Given the description of an element on the screen output the (x, y) to click on. 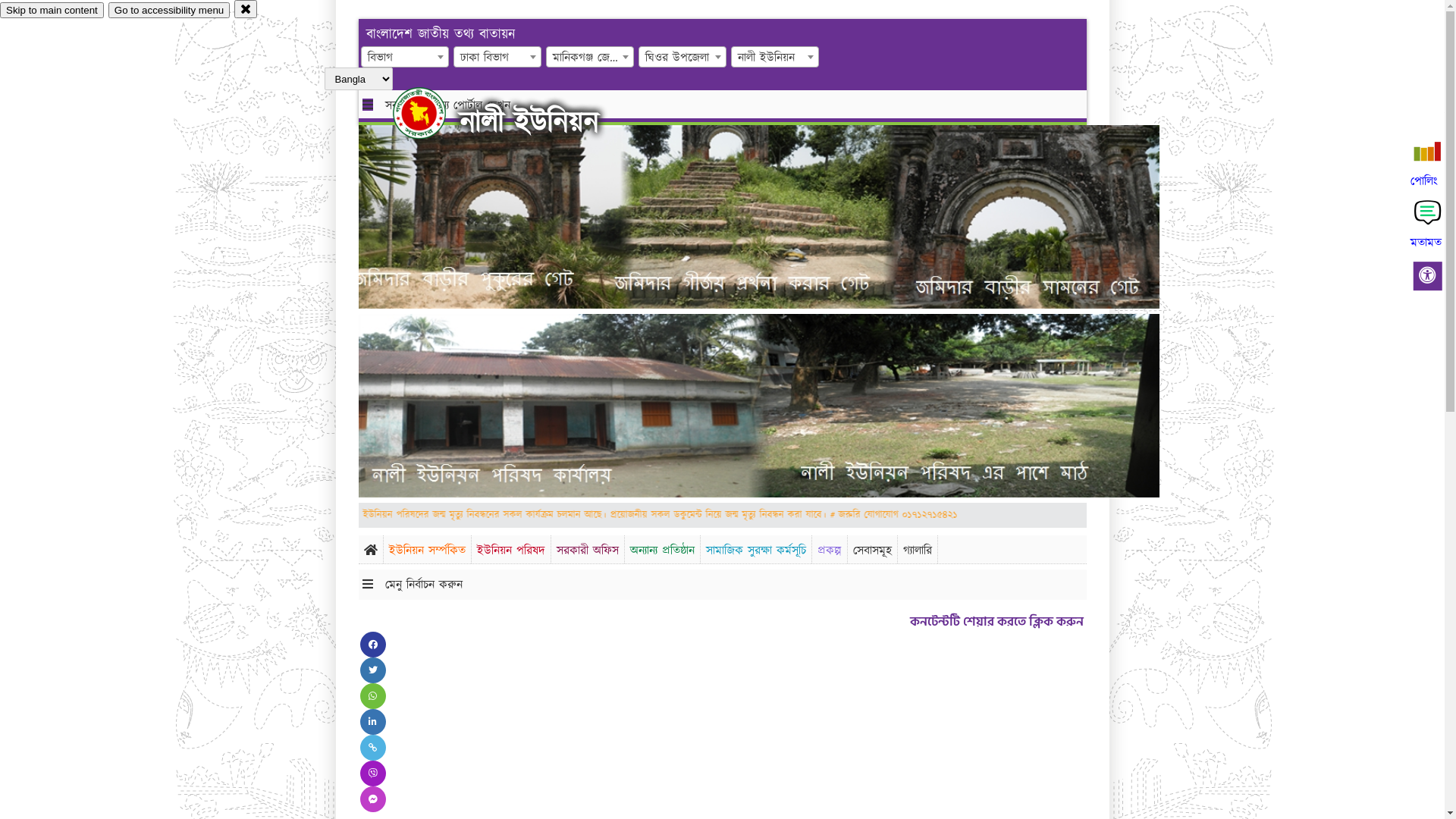

                
             Element type: hover (431, 112)
close Element type: hover (245, 9)
Go to accessibility menu Element type: text (168, 10)
Skip to main content Element type: text (51, 10)
